Given the description of an element on the screen output the (x, y) to click on. 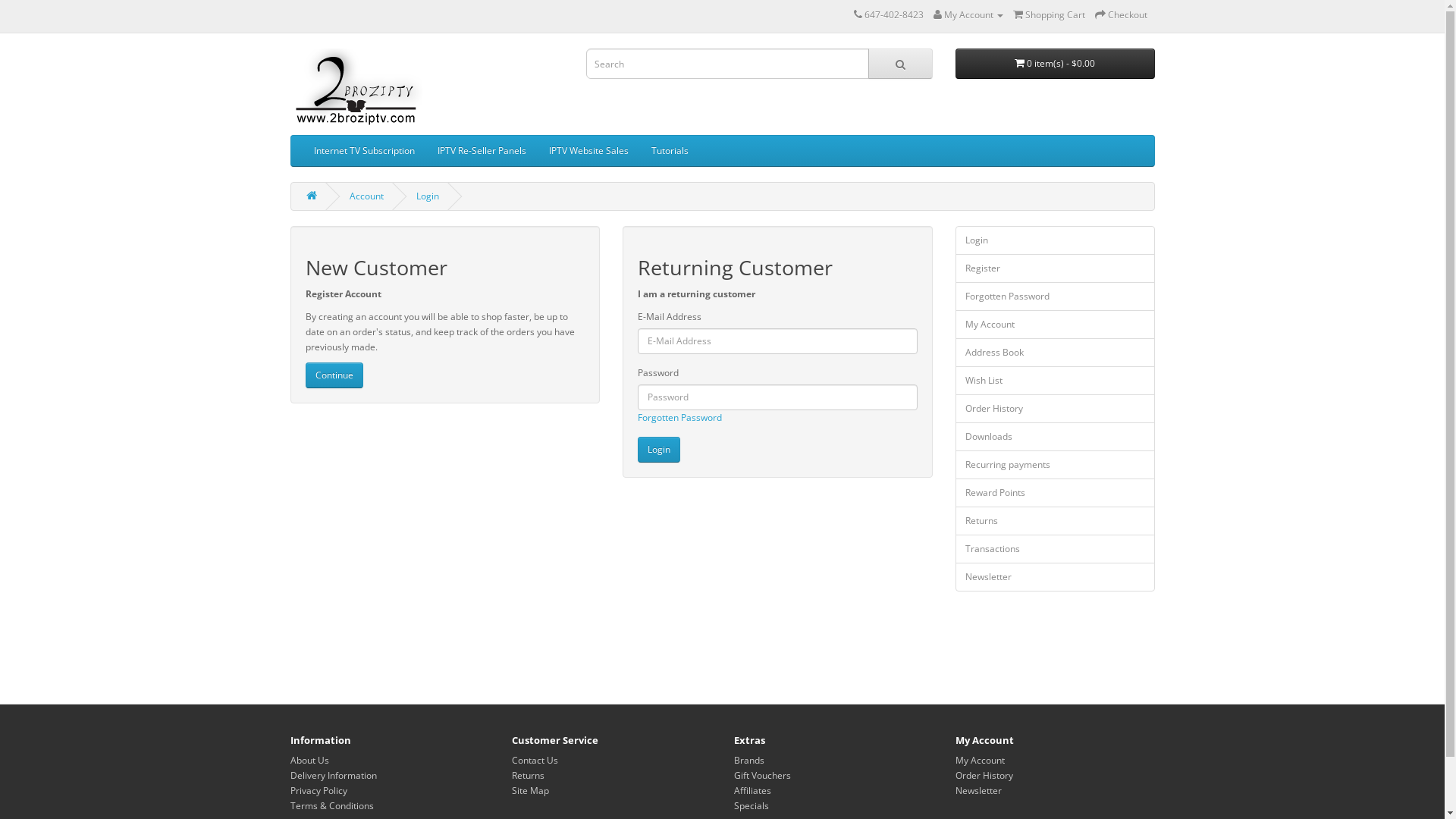
Login Element type: text (1054, 239)
2broziptv Element type: hover (355, 87)
Privacy Policy Element type: text (317, 790)
Specials Element type: text (751, 805)
Returns Element type: text (527, 774)
Forgotten Password Element type: text (1054, 296)
My Account Element type: text (1054, 324)
Register Element type: text (1054, 268)
0 item(s) - $0.00 Element type: text (1054, 63)
Internet TV Subscription Element type: text (363, 150)
Delivery Information Element type: text (332, 774)
Site Map Element type: text (530, 790)
Contact Us Element type: text (534, 759)
My Account Element type: text (967, 14)
Address Book Element type: text (1054, 352)
Shopping Cart Element type: text (1049, 14)
Order History Element type: text (984, 774)
Order History Element type: text (1054, 408)
Brands Element type: text (749, 759)
Gift Vouchers Element type: text (762, 774)
Downloads Element type: text (1054, 436)
Login Element type: text (658, 449)
Returns Element type: text (1054, 520)
Forgotten Password Element type: text (679, 417)
Checkout Element type: text (1121, 14)
IPTV Re-Seller Panels Element type: text (481, 150)
Newsletter Element type: text (1054, 576)
Terms & Conditions Element type: text (331, 805)
Tutorials Element type: text (669, 150)
Wish List Element type: text (1054, 380)
IPTV Website Sales Element type: text (587, 150)
Newsletter Element type: text (978, 790)
Transactions Element type: text (1054, 548)
My Account Element type: text (979, 759)
About Us Element type: text (308, 759)
Continue Element type: text (333, 375)
Recurring payments Element type: text (1054, 464)
Affiliates Element type: text (752, 790)
Login Element type: text (426, 195)
Reward Points Element type: text (1054, 492)
Account Element type: text (365, 195)
